Given the description of an element on the screen output the (x, y) to click on. 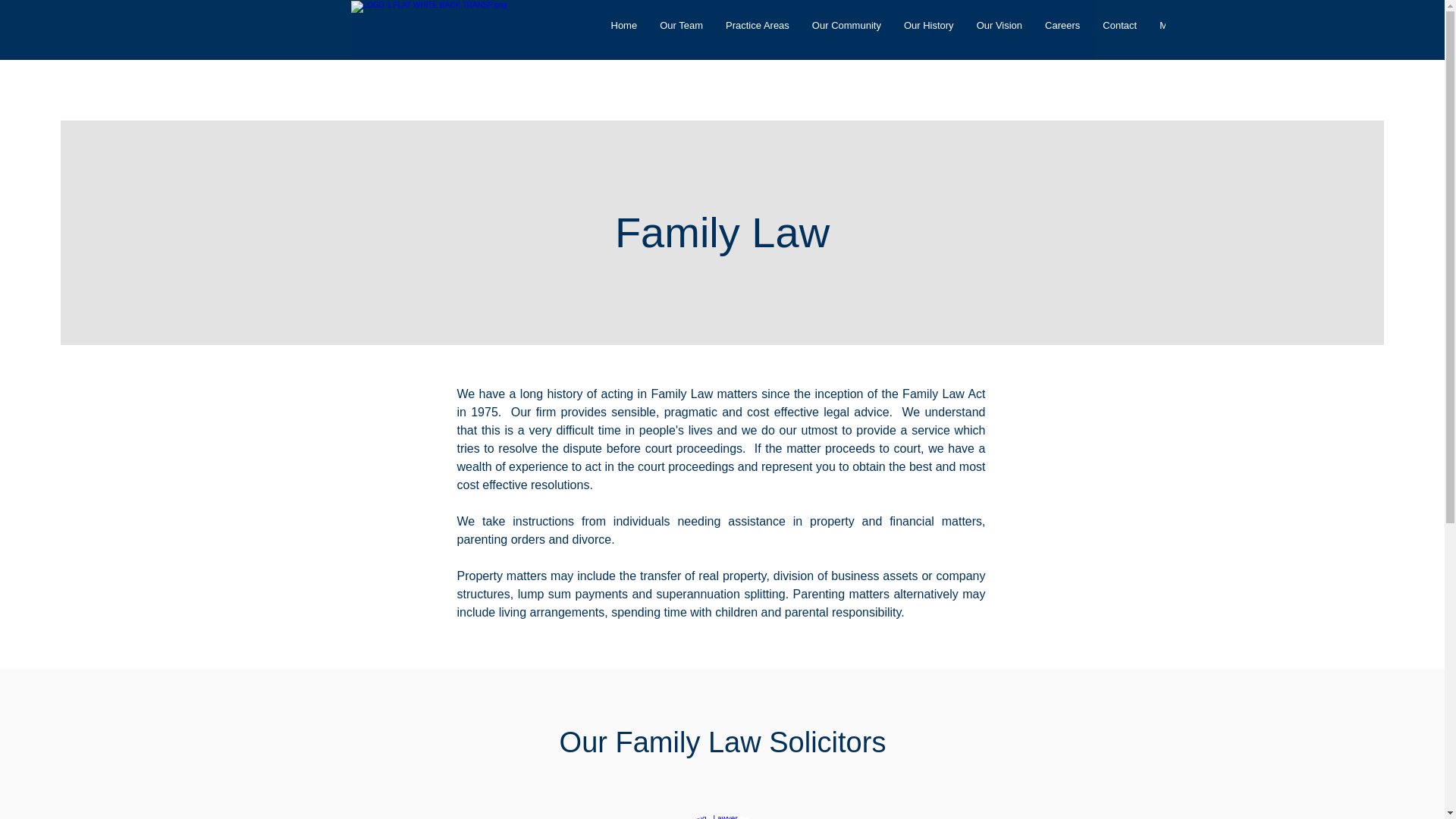
Practice Areas (757, 29)
Careers (1061, 29)
Our History (928, 29)
Our Team (680, 29)
Contact (1119, 29)
Our Community (846, 29)
Home (622, 29)
Our Vision (999, 29)
